Given the description of an element on the screen output the (x, y) to click on. 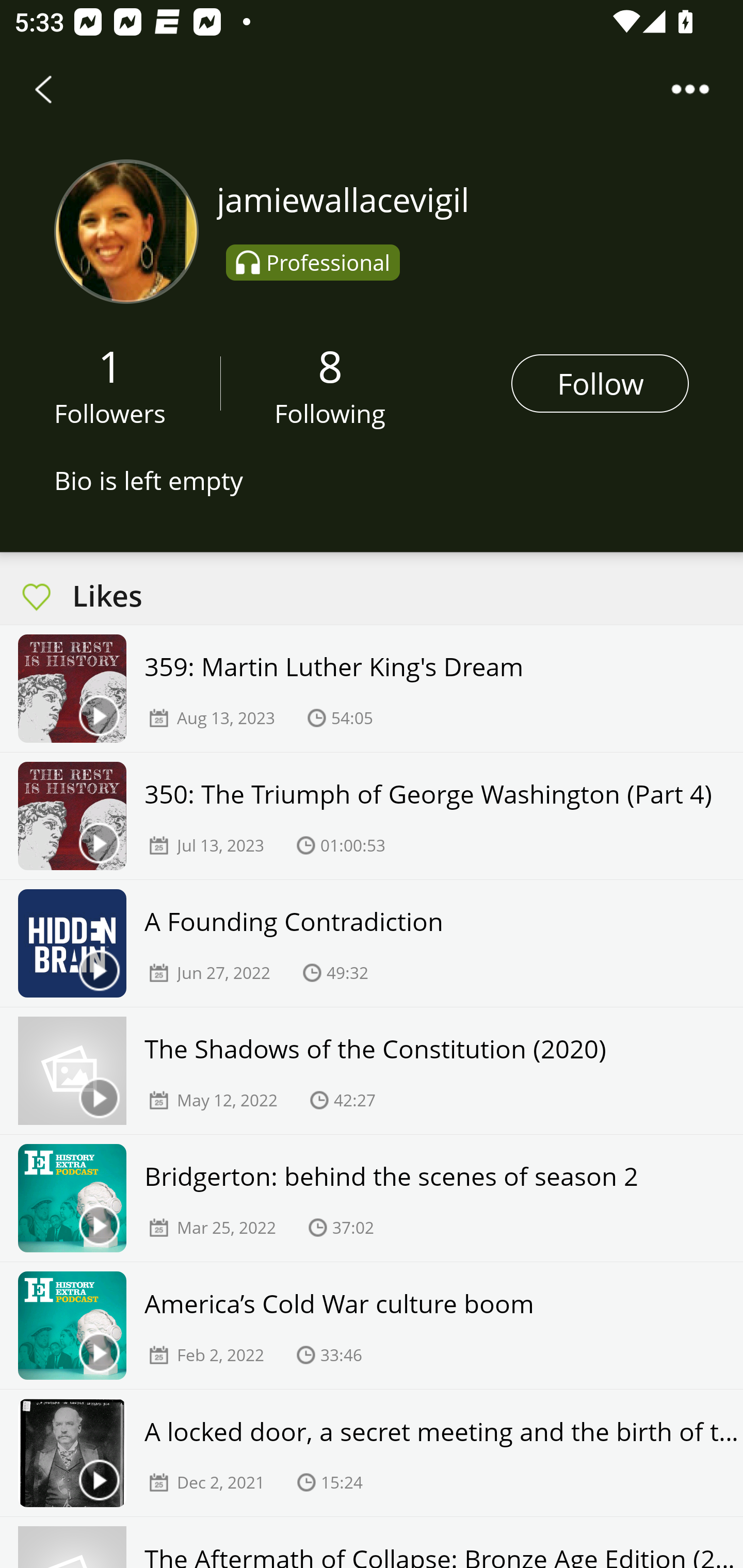
1 (110, 365)
8 (330, 365)
Follow (599, 383)
Followers (110, 413)
Following (329, 413)
359: Martin Luther King's Dream Aug 13, 2023 54:05 (371, 688)
A Founding Contradiction Jun 27, 2022 49:32 (371, 942)
America’s Cold War culture boom Feb 2, 2022 33:46 (371, 1325)
